Given the description of an element on the screen output the (x, y) to click on. 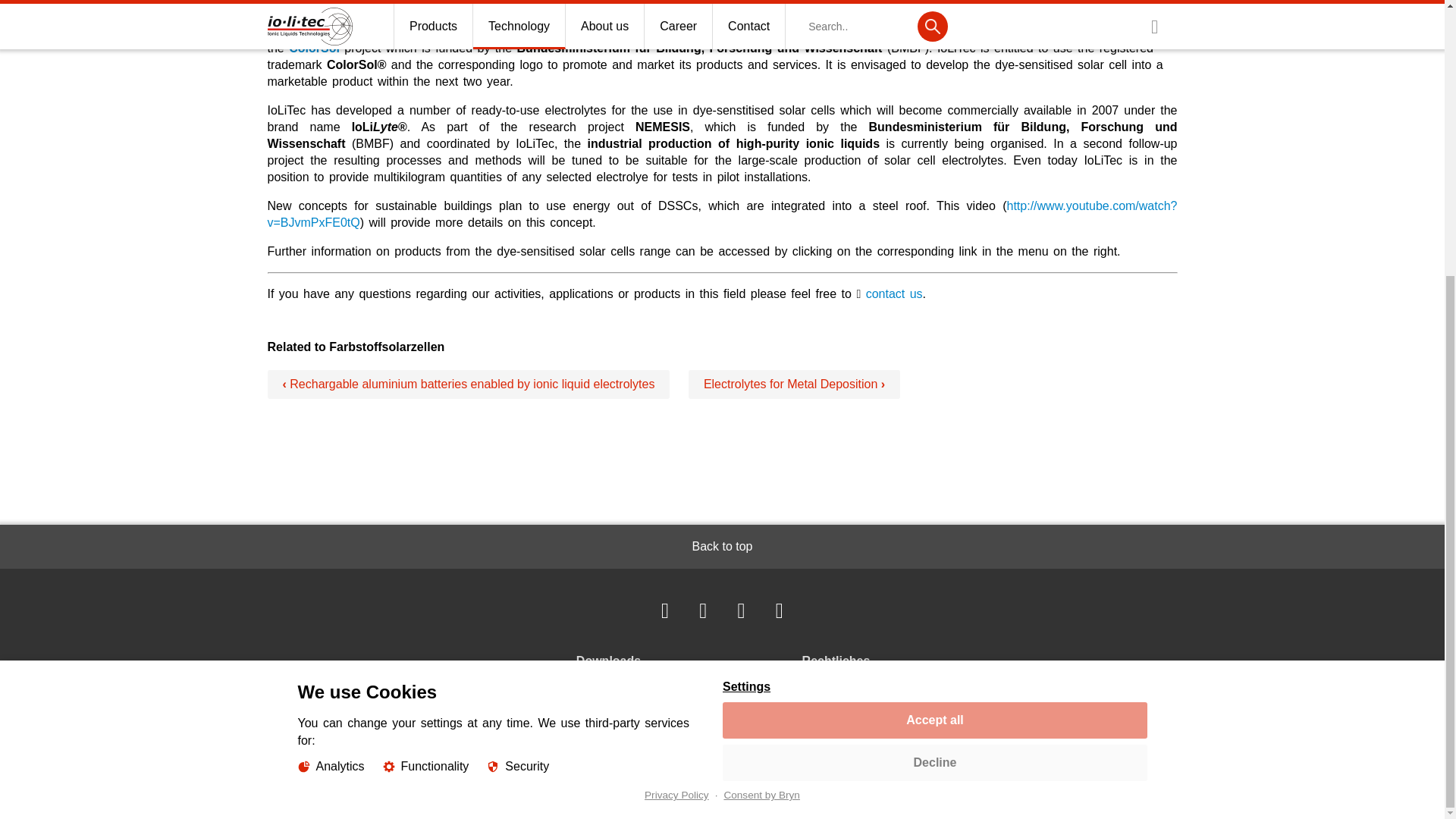
Go to previous page (467, 384)
Go to next page (793, 384)
